Given the description of an element on the screen output the (x, y) to click on. 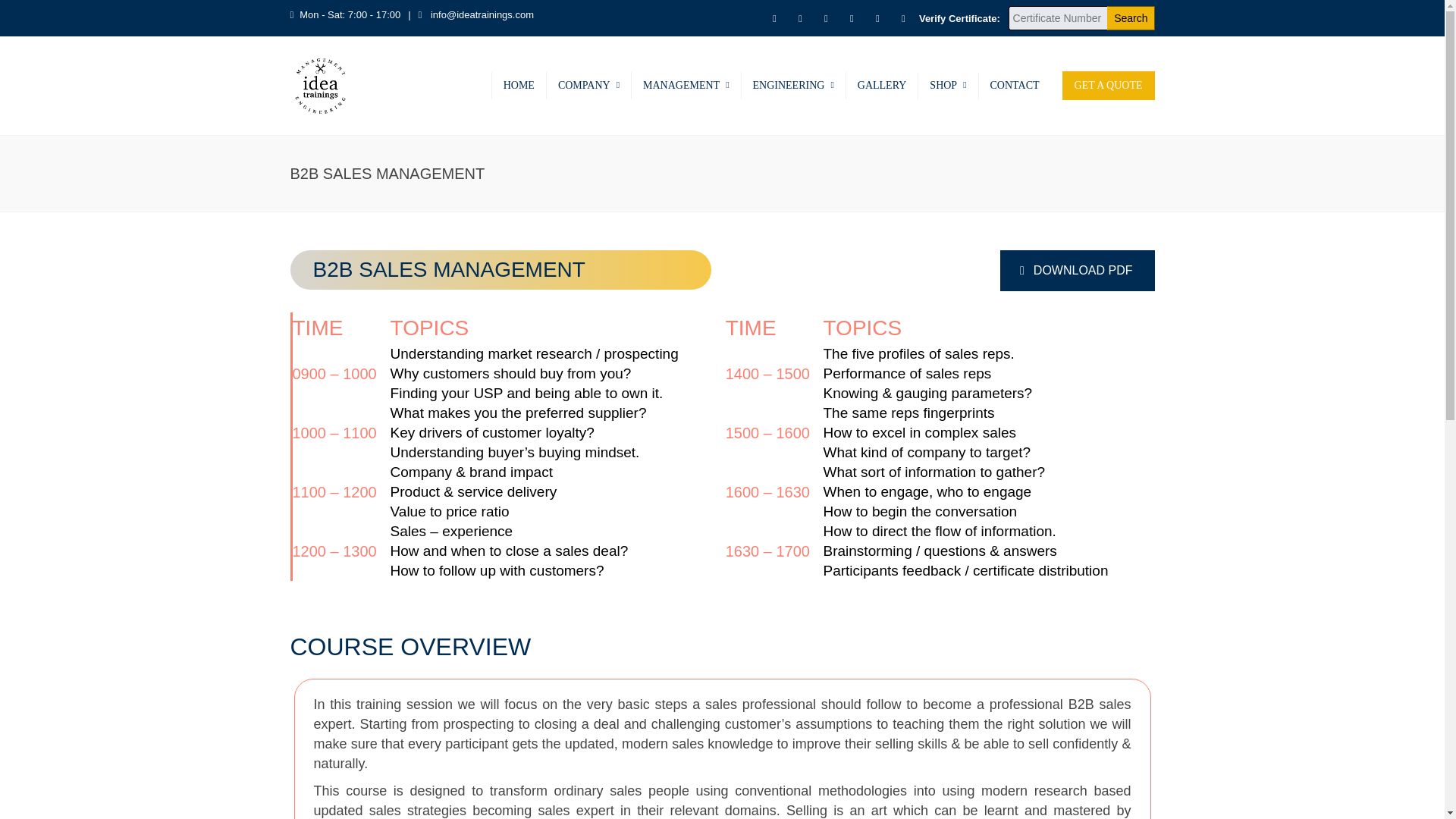
HOME (519, 85)
GALLERY (881, 85)
Search (1130, 17)
ENGINEERING (793, 85)
DOWNLOAD PDF (1077, 270)
COMPANY (588, 85)
GET A QUOTE (1108, 85)
SHOP (947, 85)
CONTACT (1014, 85)
MANAGEMENT (686, 85)
